Given the description of an element on the screen output the (x, y) to click on. 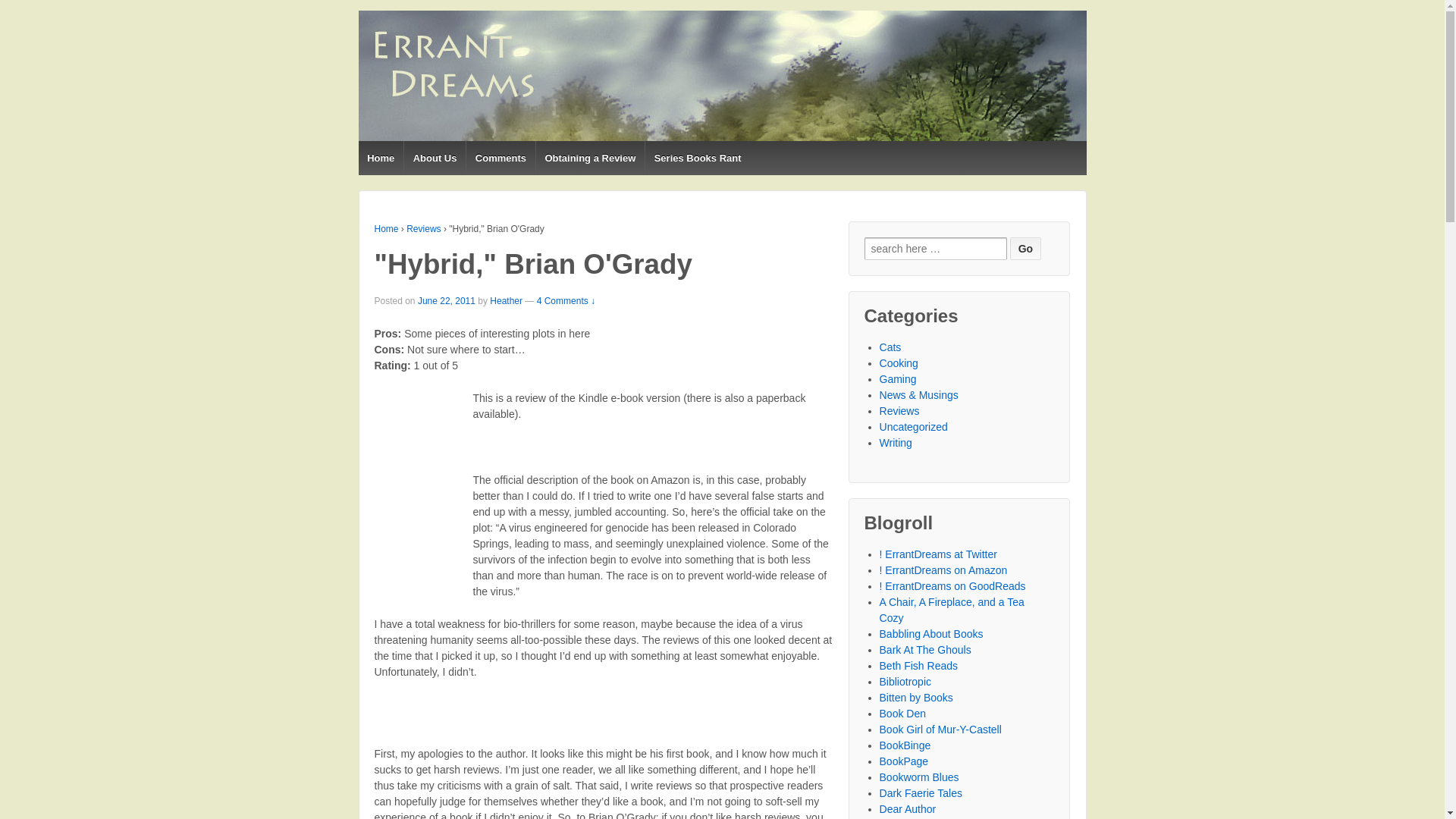
"Hybrid," Brian O'Grady (446, 300)
About Us (434, 157)
Book reviews and commentary (931, 633)
June 22, 2011 (446, 300)
Keep up with our new reviews! (938, 553)
View all posts by Heather (505, 300)
Horror, Fantasy, SF (902, 713)
Reviews (423, 228)
Comments (500, 157)
Home (380, 157)
Book reviews and features (918, 665)
Go (1025, 248)
Genre book reviews (916, 697)
Review excerpts on Amazon (943, 570)
Romance Reviews (905, 745)
